Given the description of an element on the screen output the (x, y) to click on. 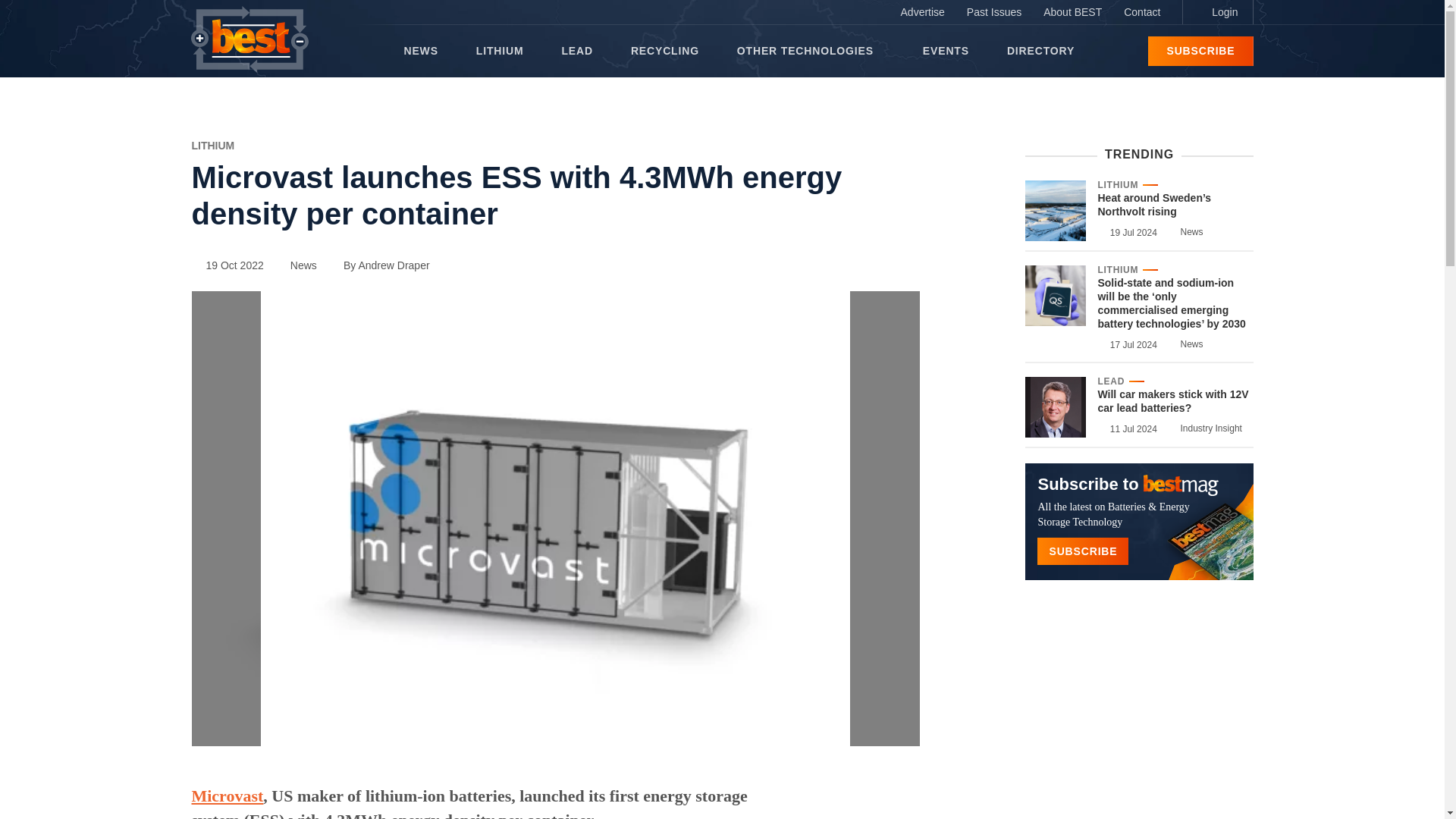
Advertise (922, 12)
By Andrew Draper (379, 265)
NEWS (420, 50)
News (296, 265)
SUBSCRIBE (1200, 51)
About BEST (1072, 12)
OTHER TECHNOLOGIES (810, 50)
Login (1217, 12)
LITHIUM (212, 145)
Contact (1141, 12)
LITHIUM (499, 50)
Microvast (226, 795)
EVENTS (945, 50)
LEAD (576, 50)
Past Issues (994, 12)
